Given the description of an element on the screen output the (x, y) to click on. 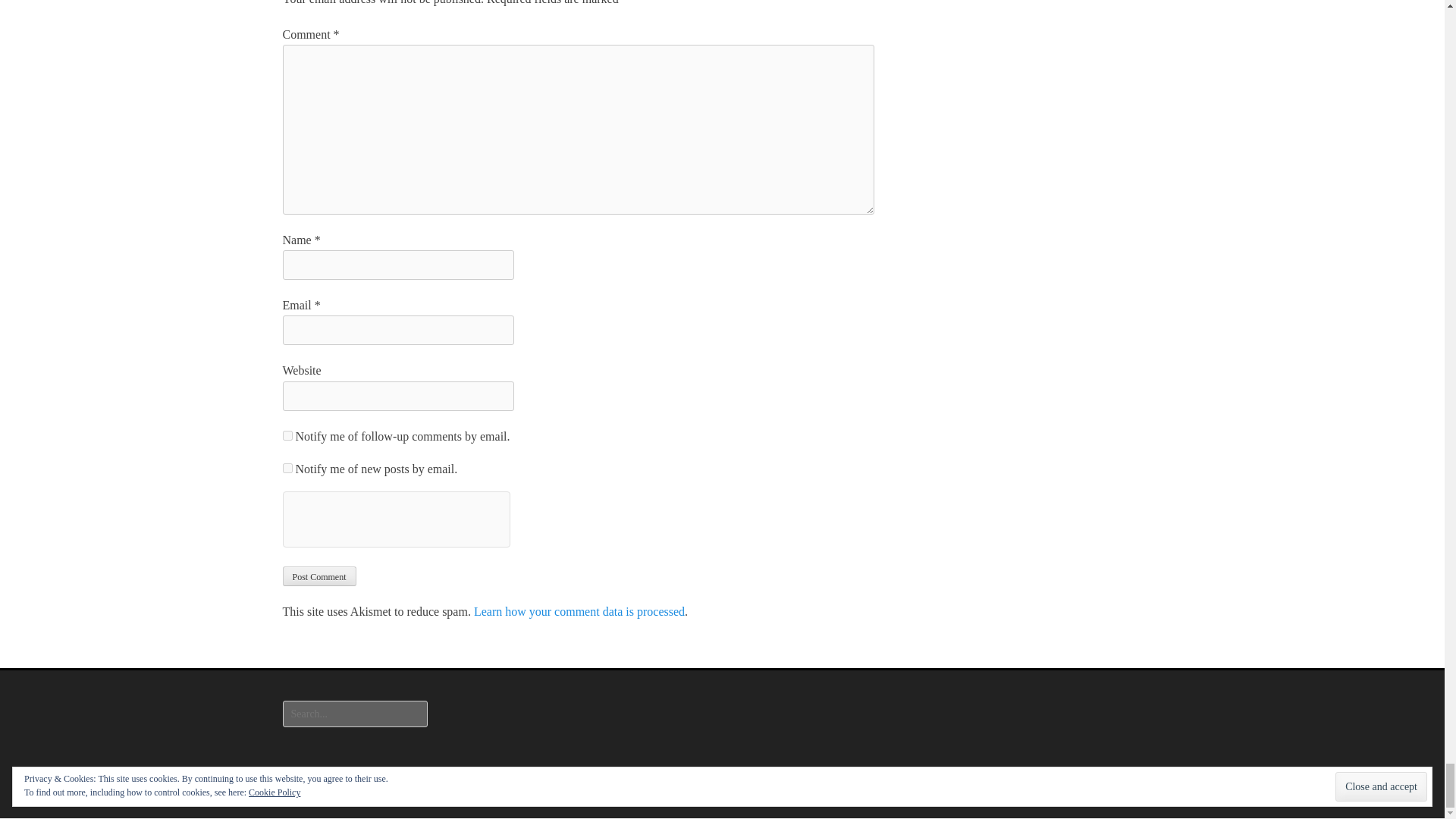
subscribe (287, 435)
Search for: (354, 714)
Post Comment (318, 576)
subscribe (287, 468)
